Given the description of an element on the screen output the (x, y) to click on. 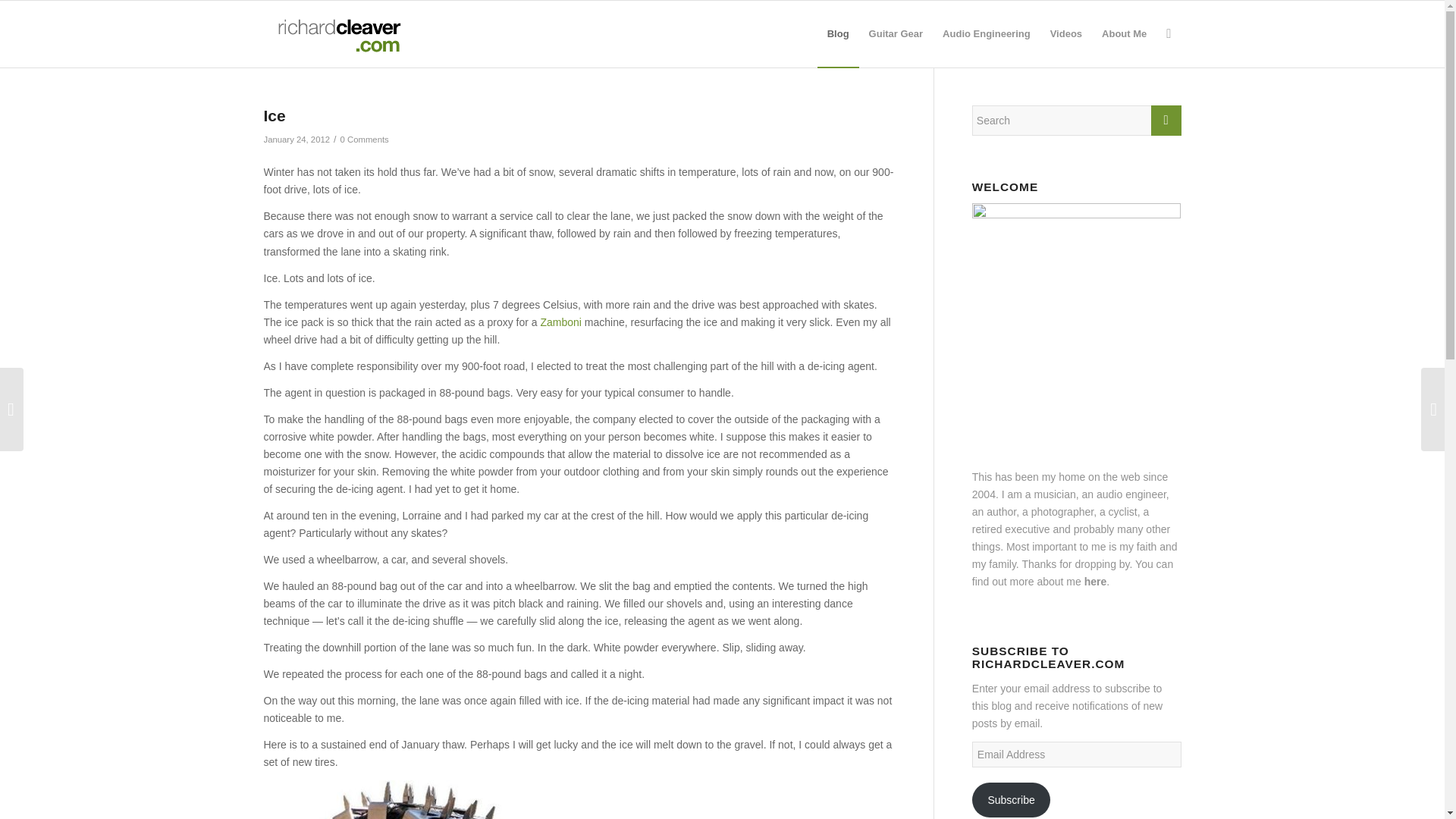
Guitar Gear (896, 33)
0 Comments (364, 139)
About Me (1124, 33)
Audio Engineering (987, 33)
Subscribe (1011, 799)
Zamboni (560, 322)
rcdotcomlogo (336, 33)
here (1095, 581)
spikes (415, 799)
